Given the description of an element on the screen output the (x, y) to click on. 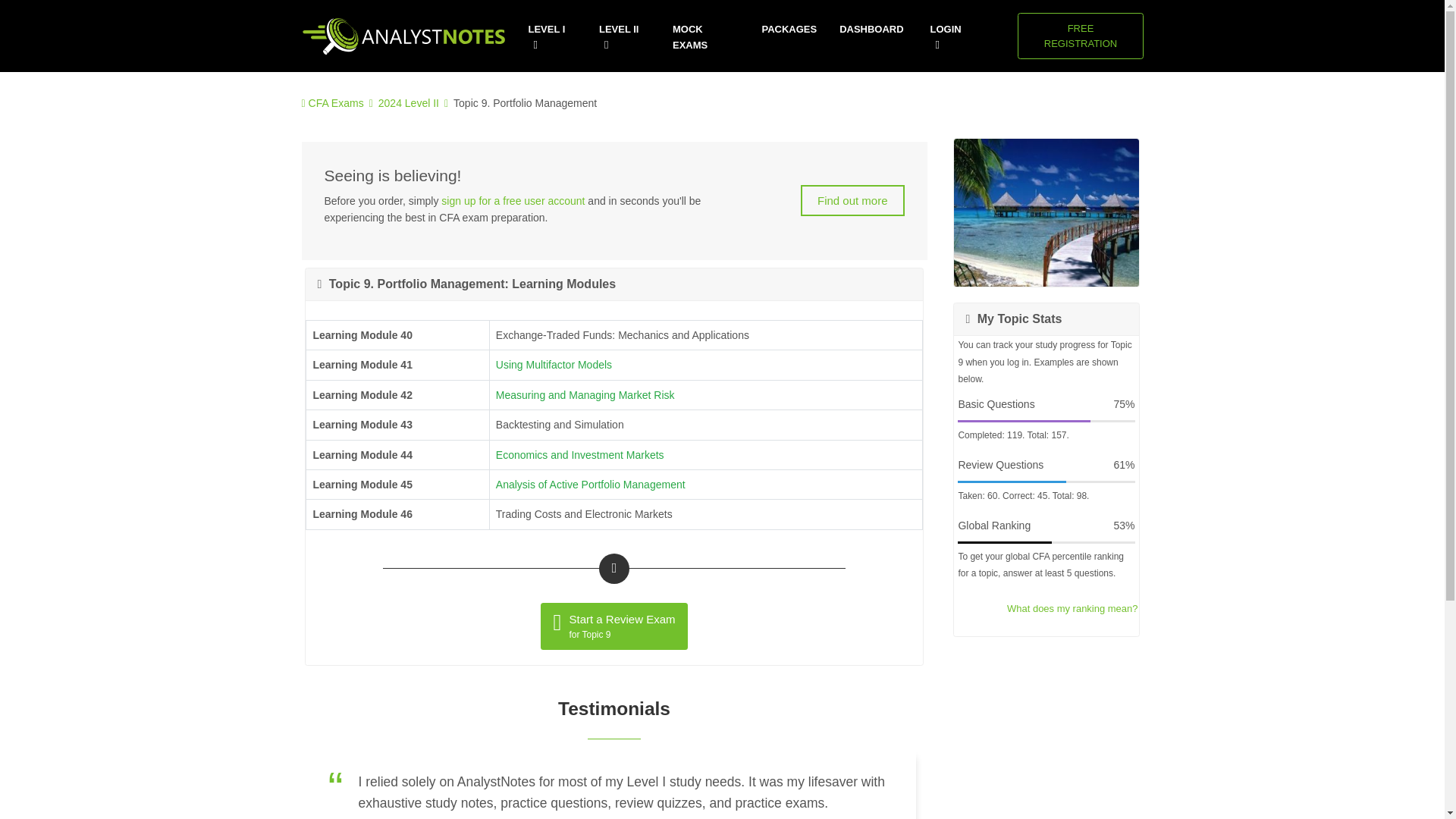
MOCK EXAMS (705, 37)
Analysis of Active Portfolio Management (590, 484)
DASHBOARD (871, 29)
CFA Exams (336, 102)
Economics and Investment Markets (579, 454)
PACKAGES (788, 29)
2024 Level II (408, 102)
sign up for a free user account (613, 626)
Using Multifactor Models (513, 200)
What does my ranking mean? (553, 364)
FREE REGISTRATION (1072, 608)
Find out more (1079, 35)
Measuring and Managing Market Risk (852, 200)
LOGIN (585, 395)
